Given the description of an element on the screen output the (x, y) to click on. 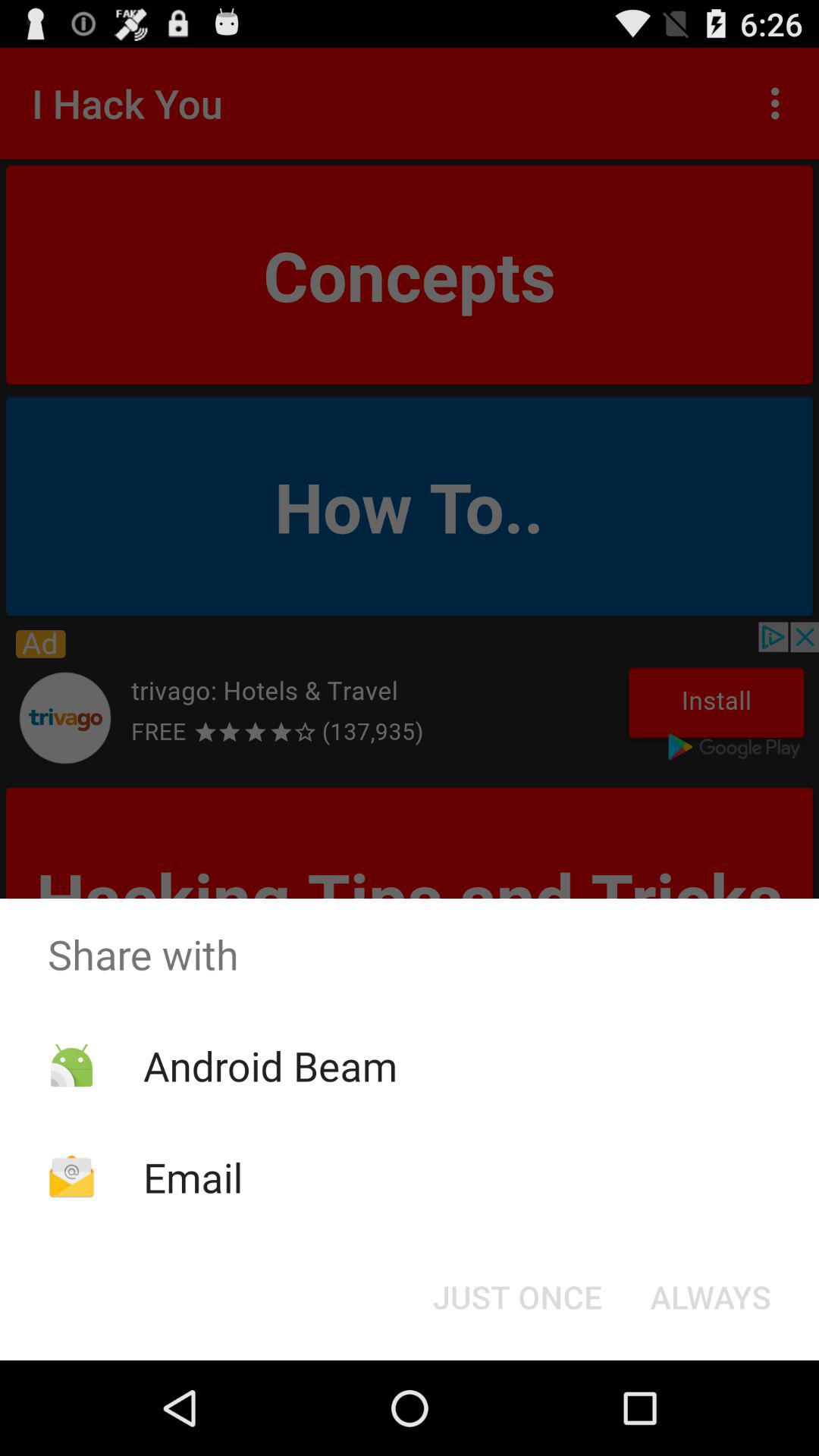
launch item below the share with app (270, 1065)
